Given the description of an element on the screen output the (x, y) to click on. 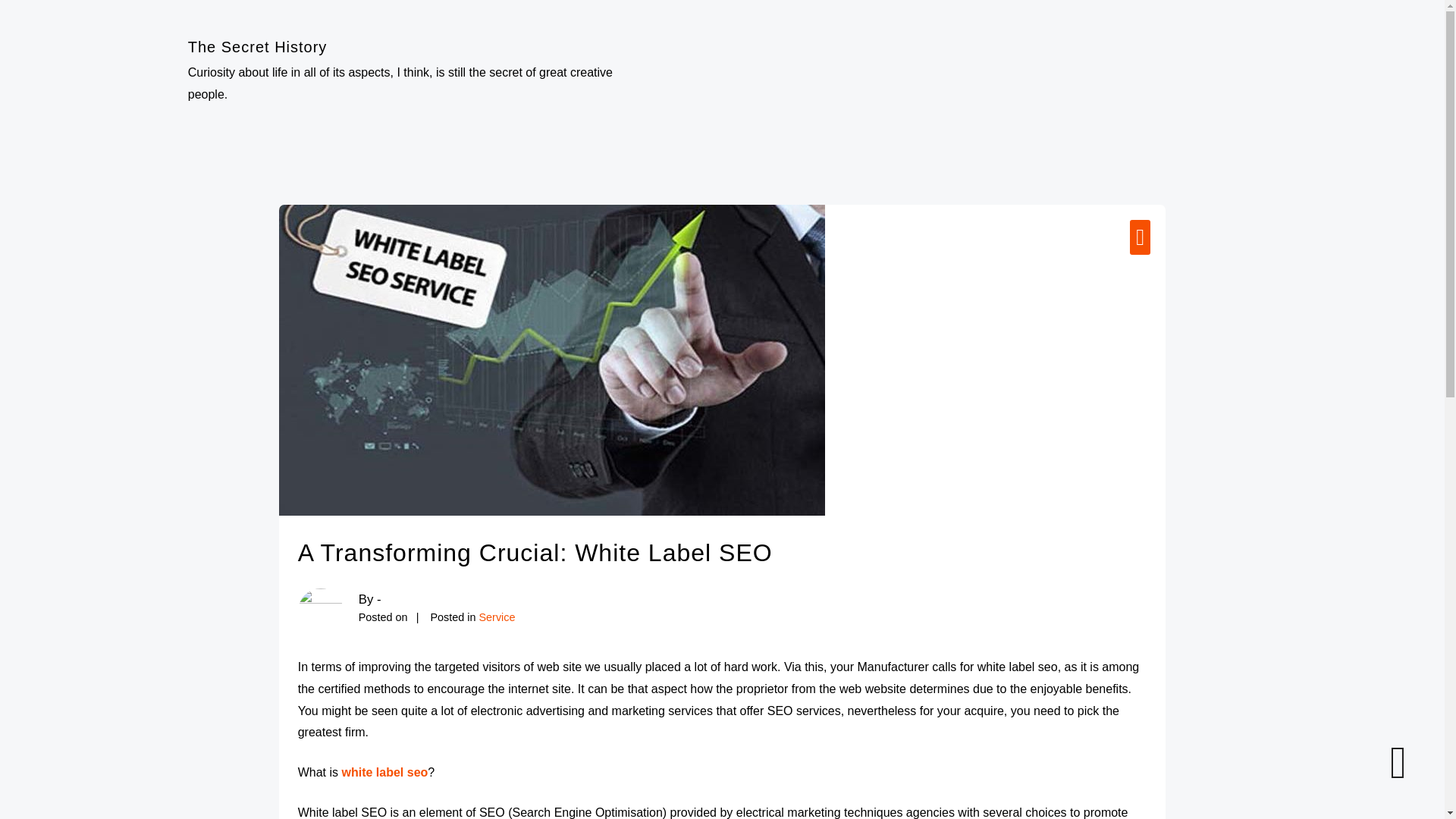
The Secret History (257, 46)
Service (497, 616)
white label seo (384, 771)
